Given the description of an element on the screen output the (x, y) to click on. 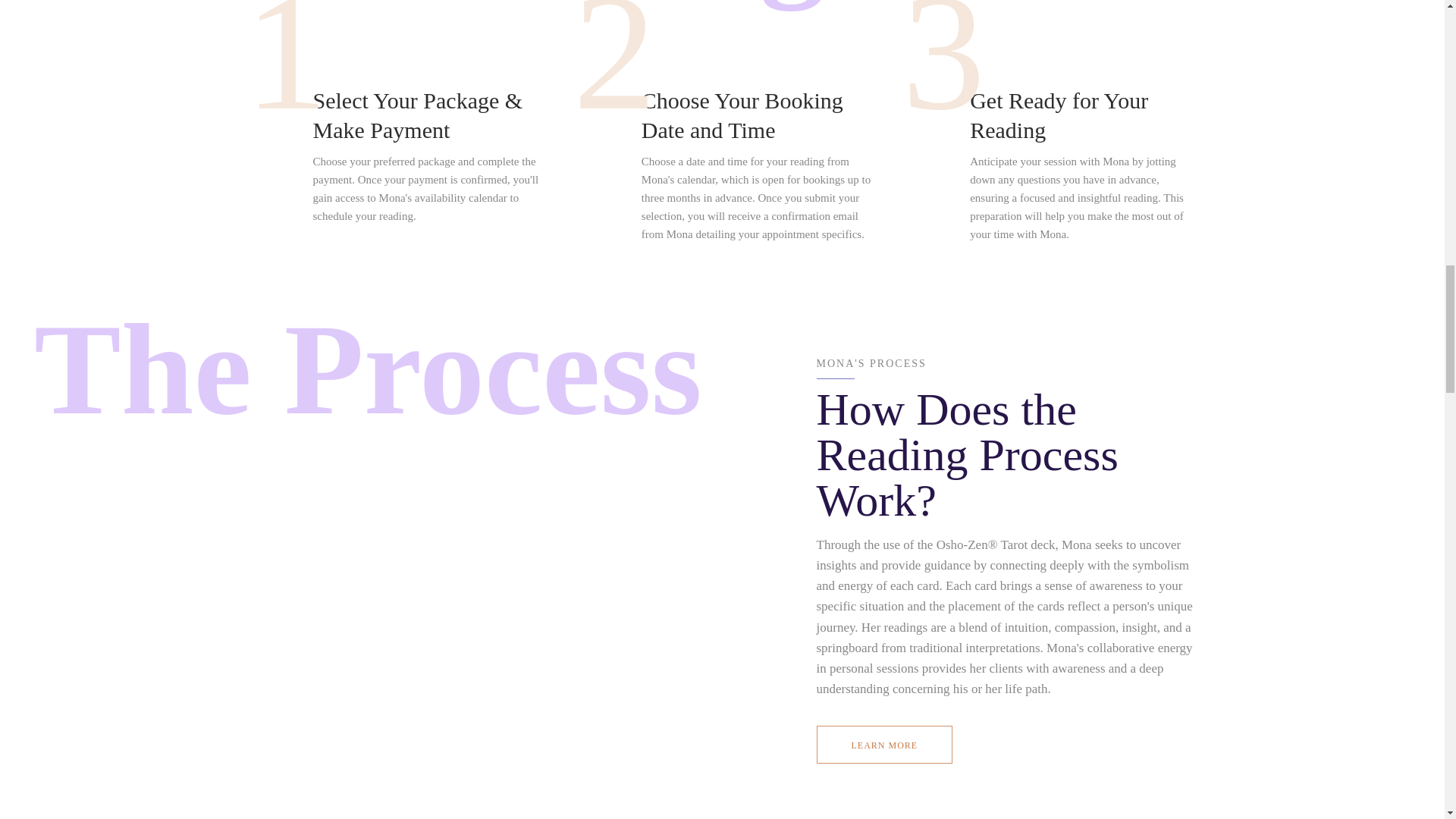
LEARN MORE (883, 744)
